Given the description of an element on the screen output the (x, y) to click on. 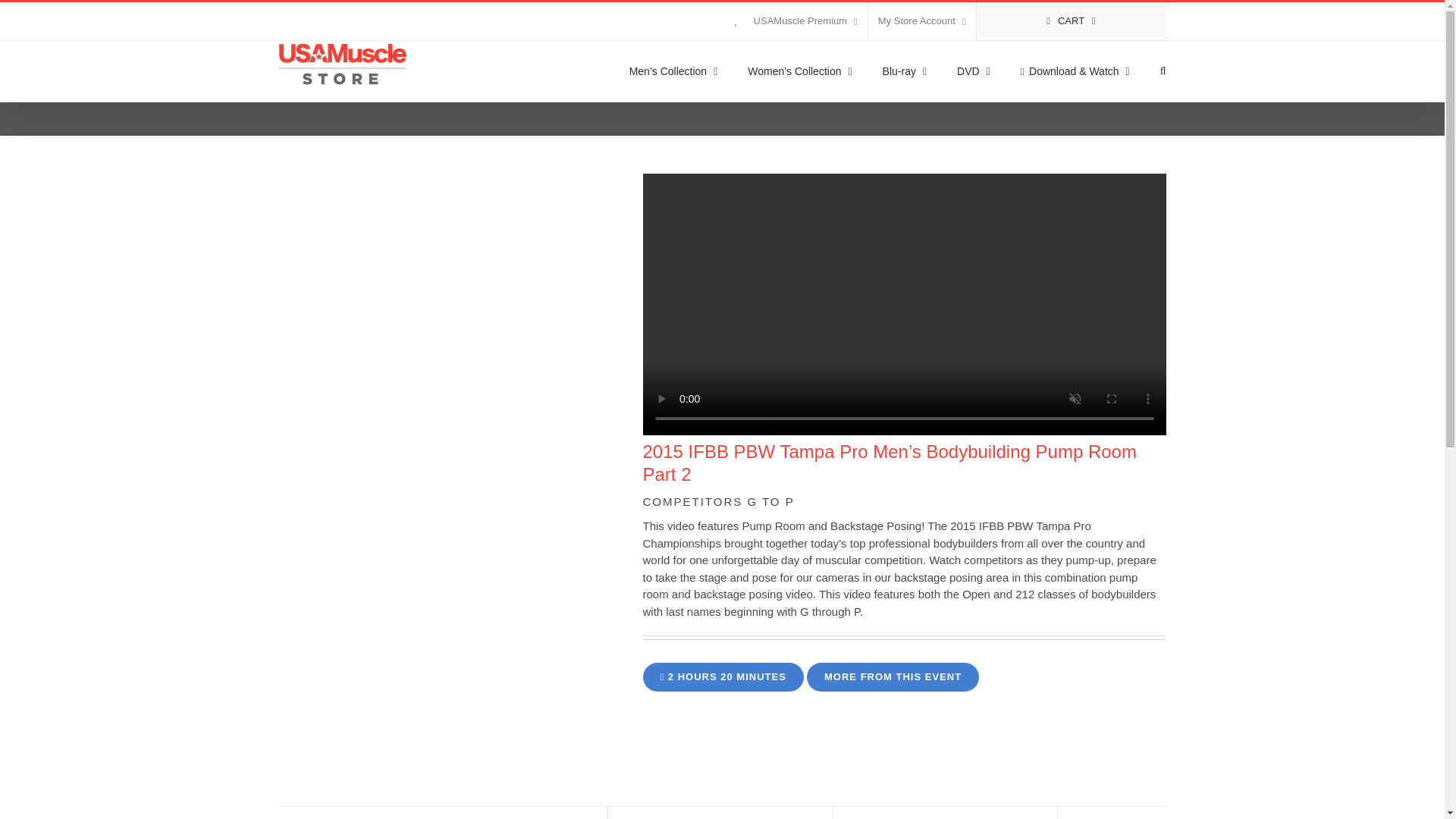
My Store Account (921, 21)
CART (1071, 21)
USAMuscle Premium (795, 21)
